Given the description of an element on the screen output the (x, y) to click on. 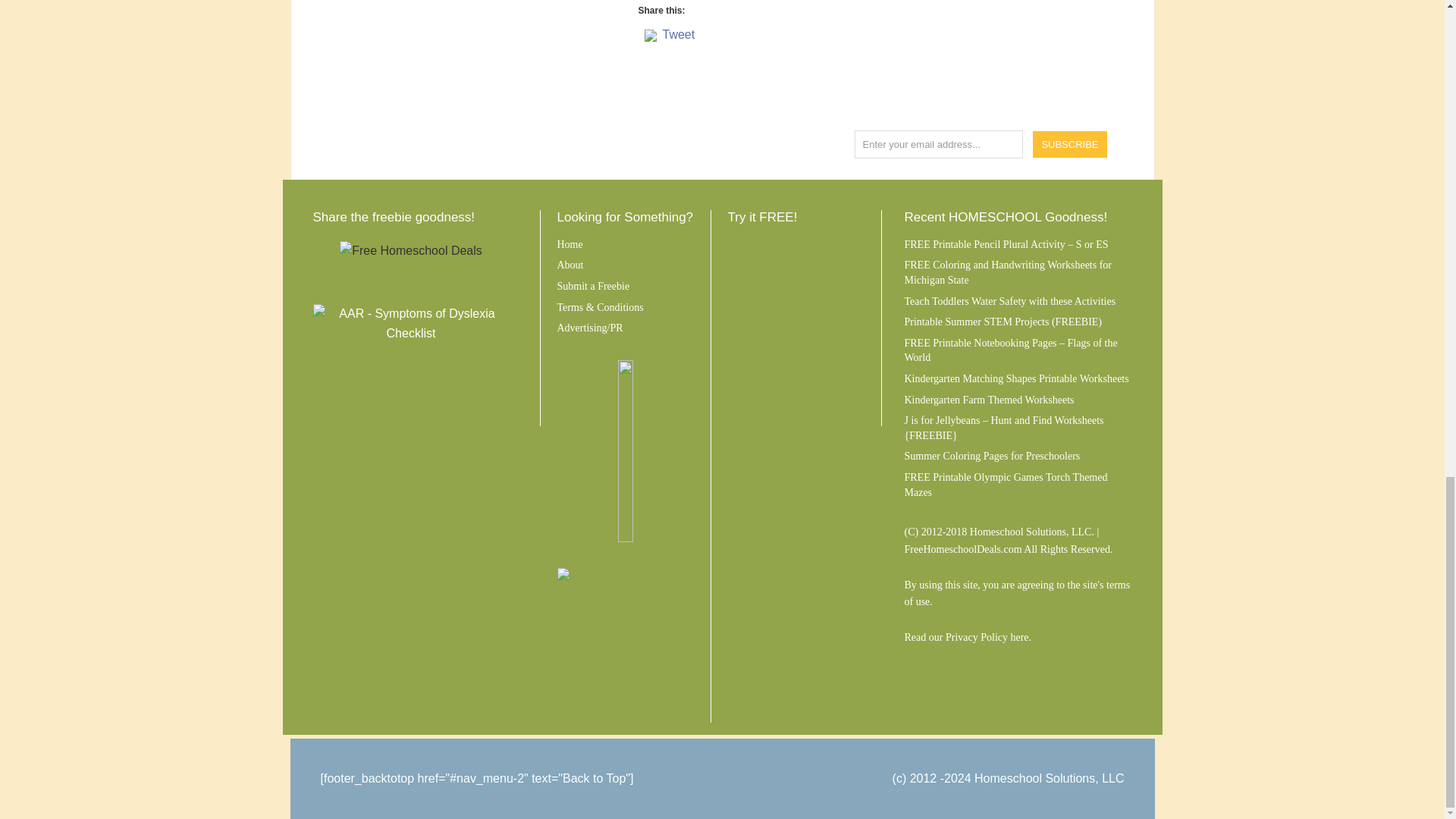
Subscribe (1070, 144)
Free Homeschool Deals (410, 250)
